Given the description of an element on the screen output the (x, y) to click on. 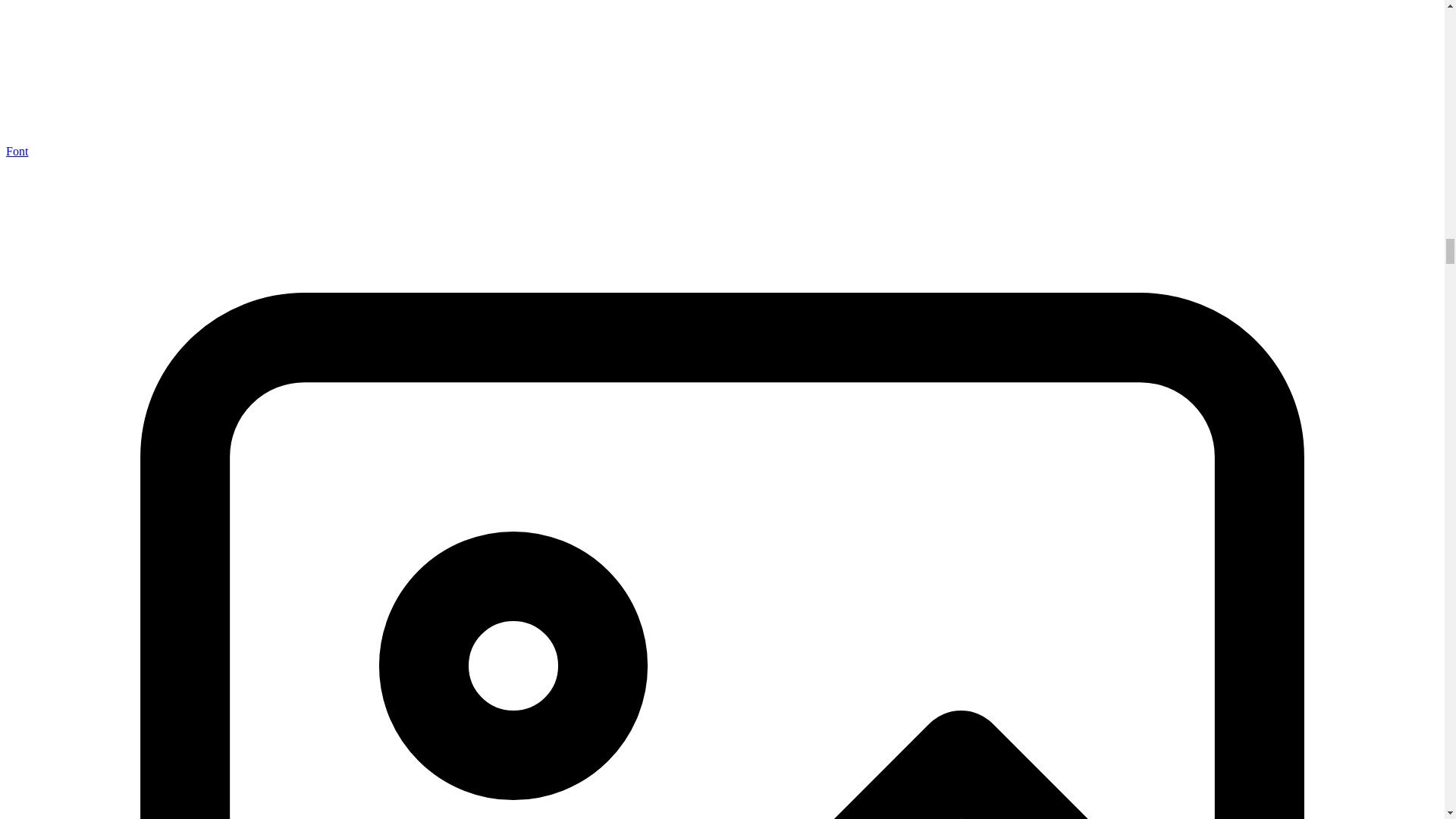
Font (16, 151)
